Given the description of an element on the screen output the (x, y) to click on. 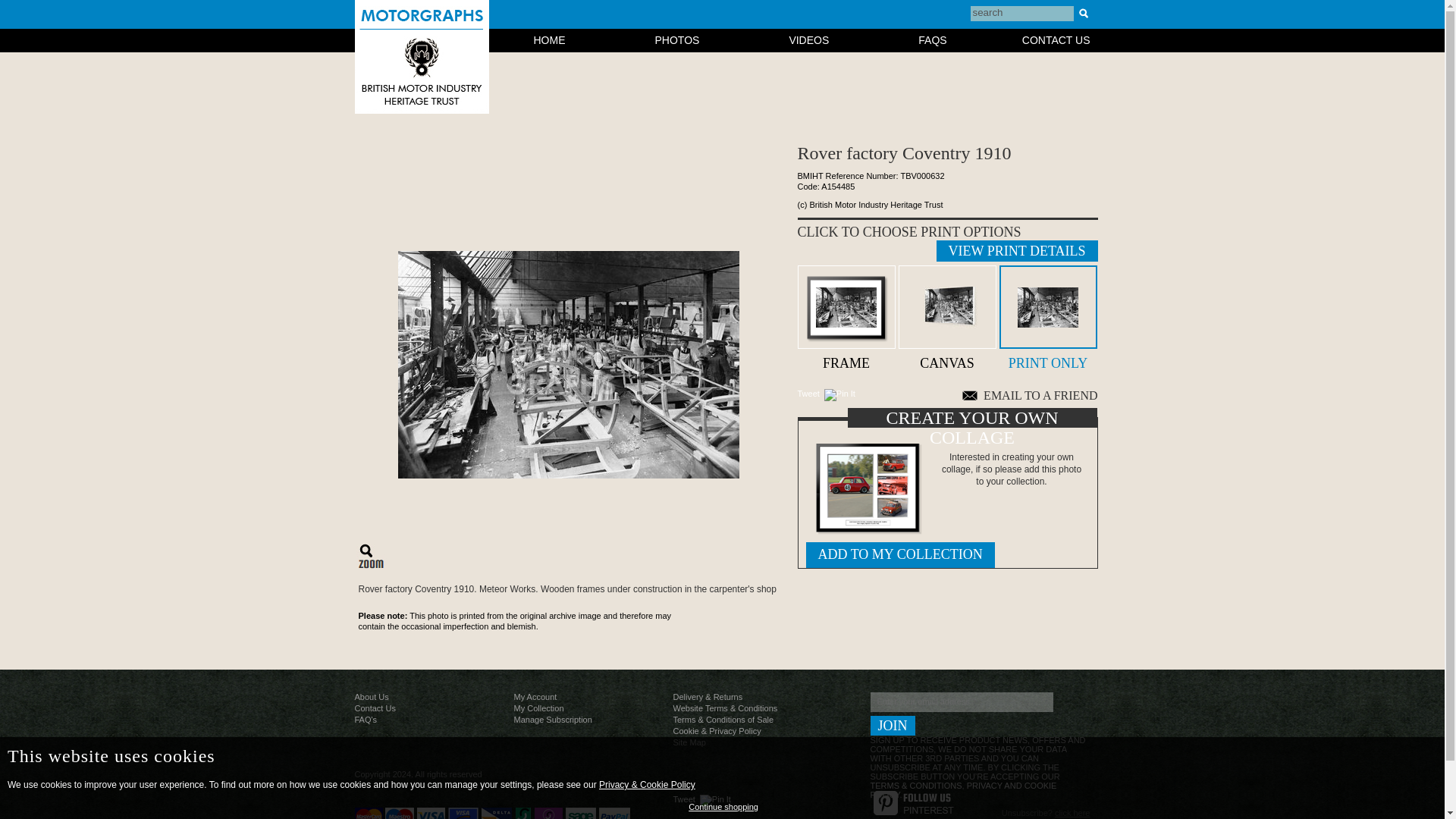
search (1022, 13)
PRINT ONLY (1047, 315)
ADD TO MY COLLECTION (899, 555)
Enter your email address (961, 701)
VIEW PRINT DETAILS (1016, 250)
CANVAS (946, 315)
Pin It (840, 395)
HOME (550, 39)
search (1022, 13)
EMAIL TO A FRIEND (1029, 395)
PHOTOS (677, 39)
Tweet (808, 393)
Pin It (715, 800)
FRAME (846, 315)
